Given the description of an element on the screen output the (x, y) to click on. 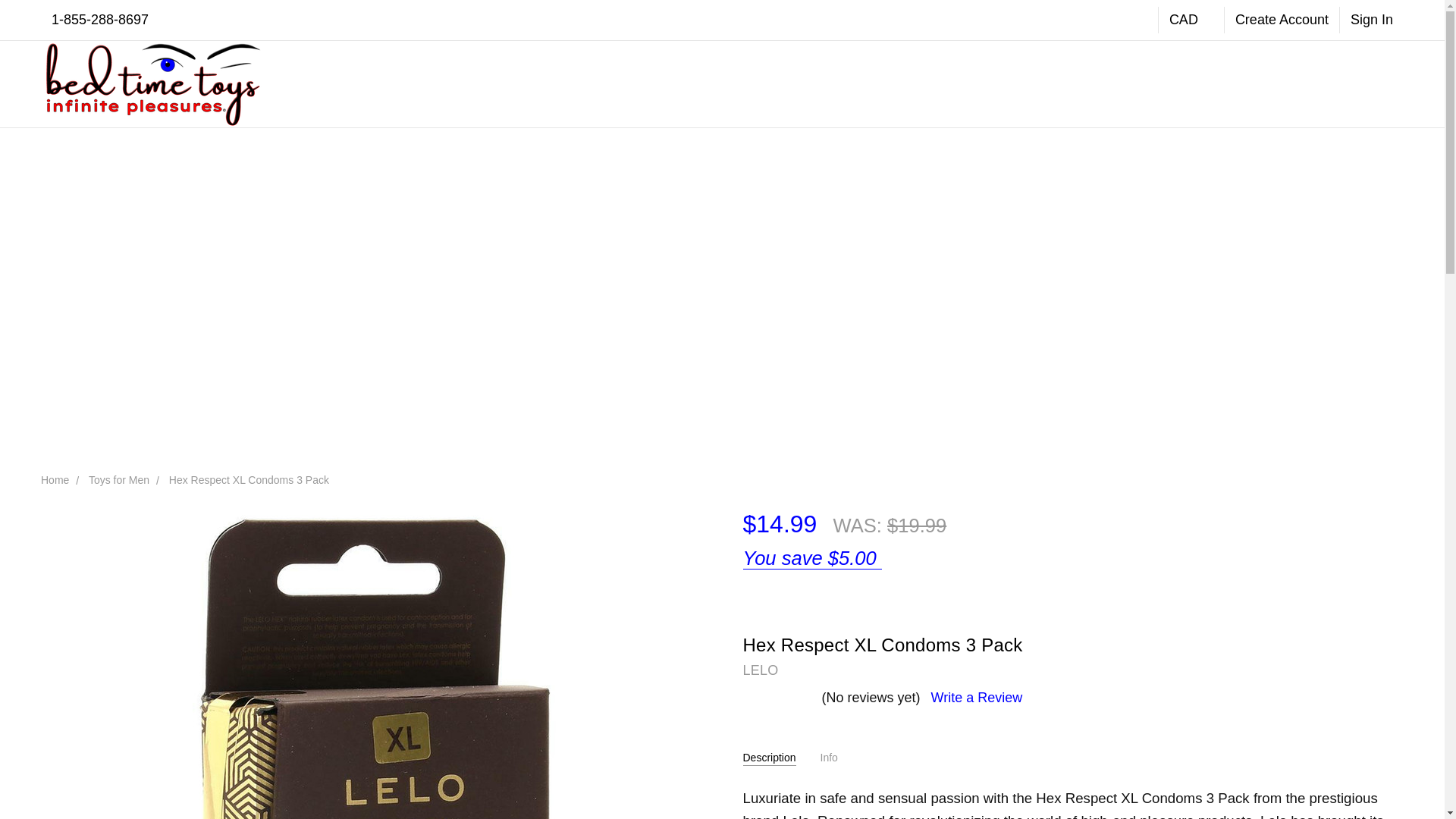
Sign In (1371, 19)
CONTACT US (842, 83)
PRIVACY POLICY (852, 83)
ABOUT US (835, 83)
TALK DIRTY TO ME...BLOG (874, 83)
CAD (1191, 19)
TRACK YOUR ORDER (863, 83)
LET US HELP YOU (855, 83)
1-855-288-8697 (99, 19)
Bed Time Toys (151, 83)
PAY WITH SEZZLE (854, 83)
Create Account (1281, 19)
RETURN POLICY (851, 83)
REWARDS PROGRAM (863, 83)
